Given the description of an element on the screen output the (x, y) to click on. 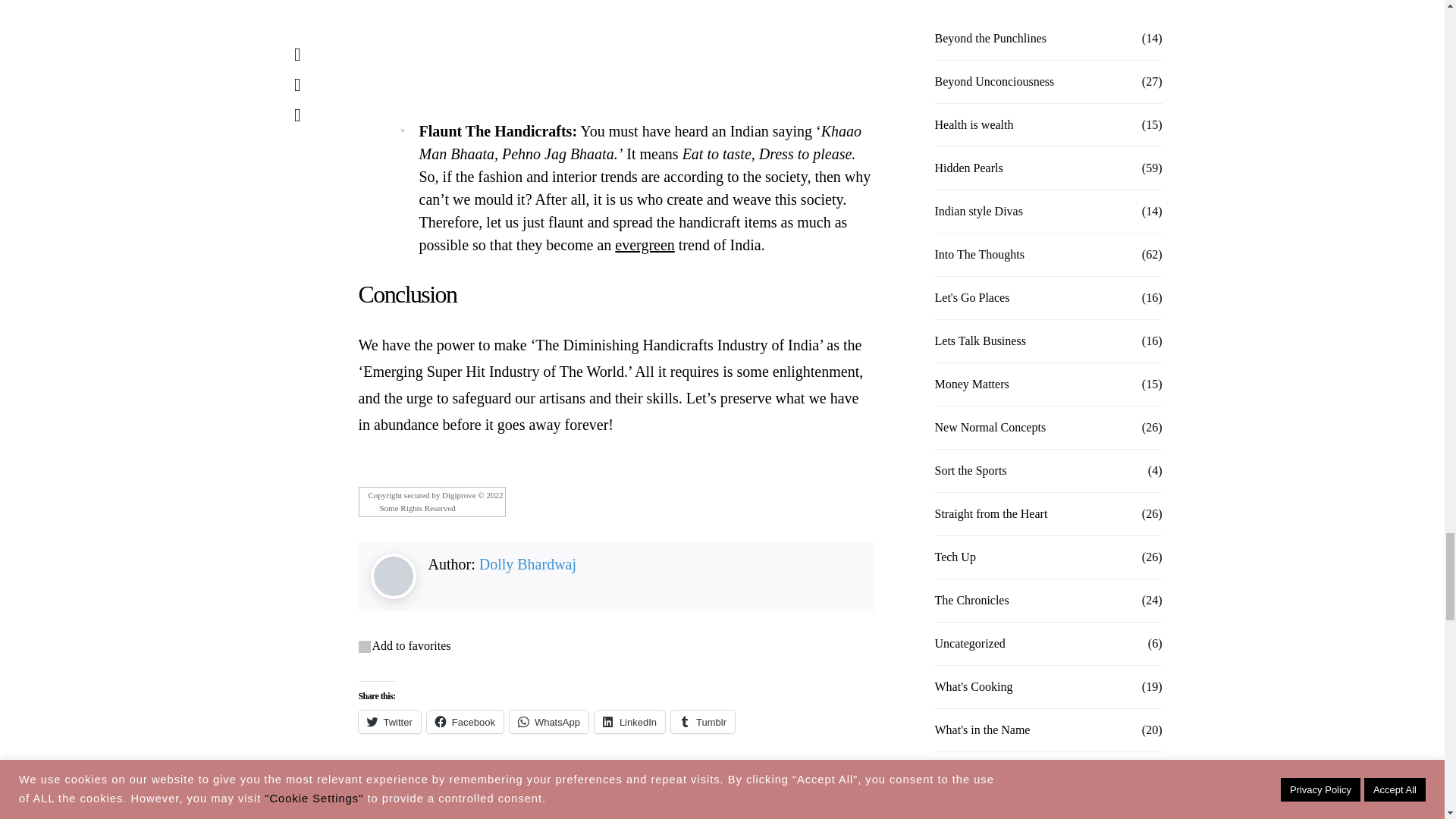
Click to share on Facebook (464, 721)
Click to see details of license (431, 508)
Favorite (363, 646)
Click to share on Twitter (389, 721)
Click to share on Tumblr (703, 721)
evergreen (644, 244)
Click to share on LinkedIn (629, 721)
Add to favorites (410, 645)
Click to share on WhatsApp (548, 721)
